Given the description of an element on the screen output the (x, y) to click on. 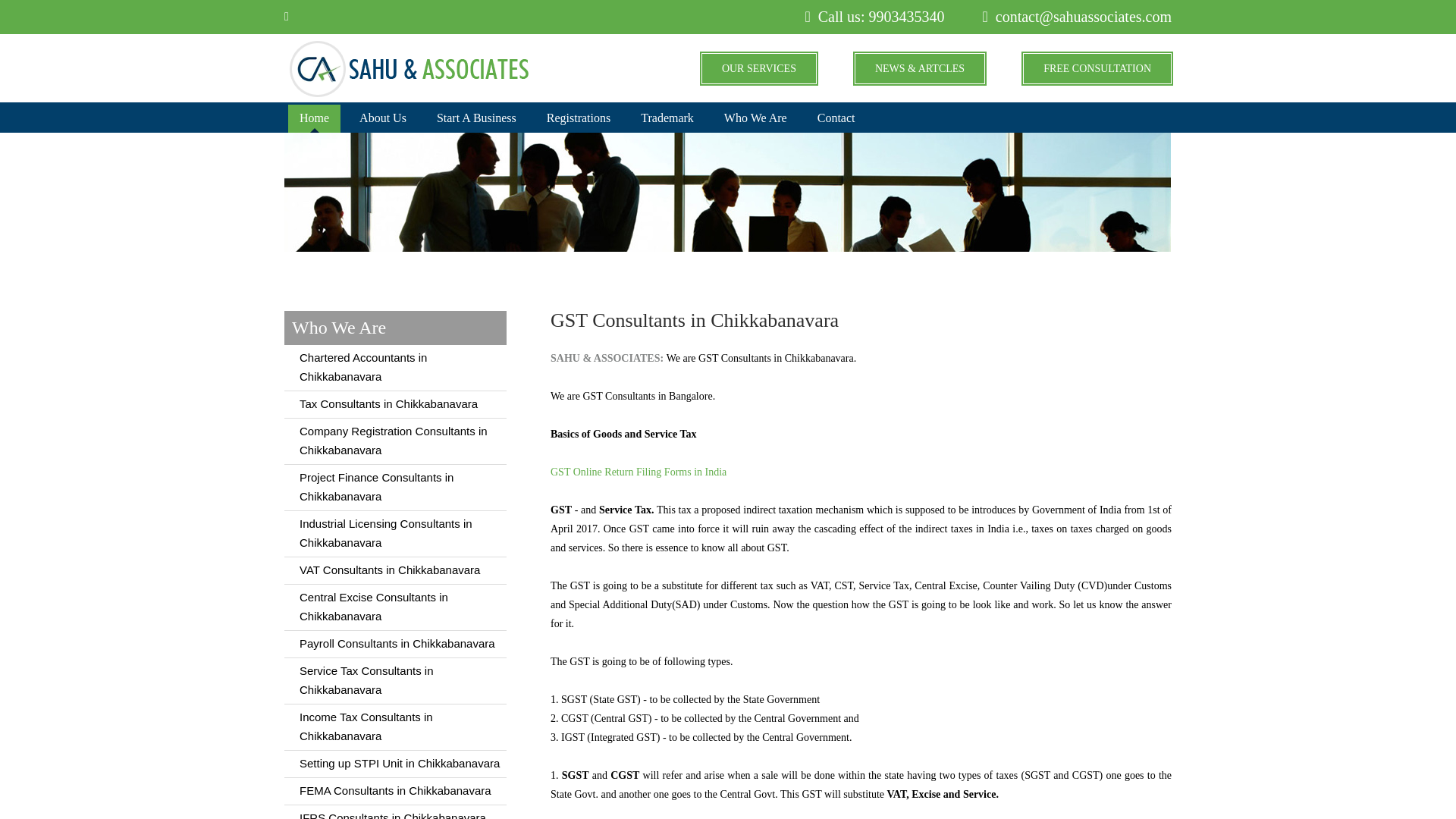
Start A Business (476, 118)
About Us (382, 118)
Registrations (578, 118)
FREE CONSULTATION (1097, 68)
Home (314, 118)
OUR SERVICES (758, 68)
